Given the description of an element on the screen output the (x, y) to click on. 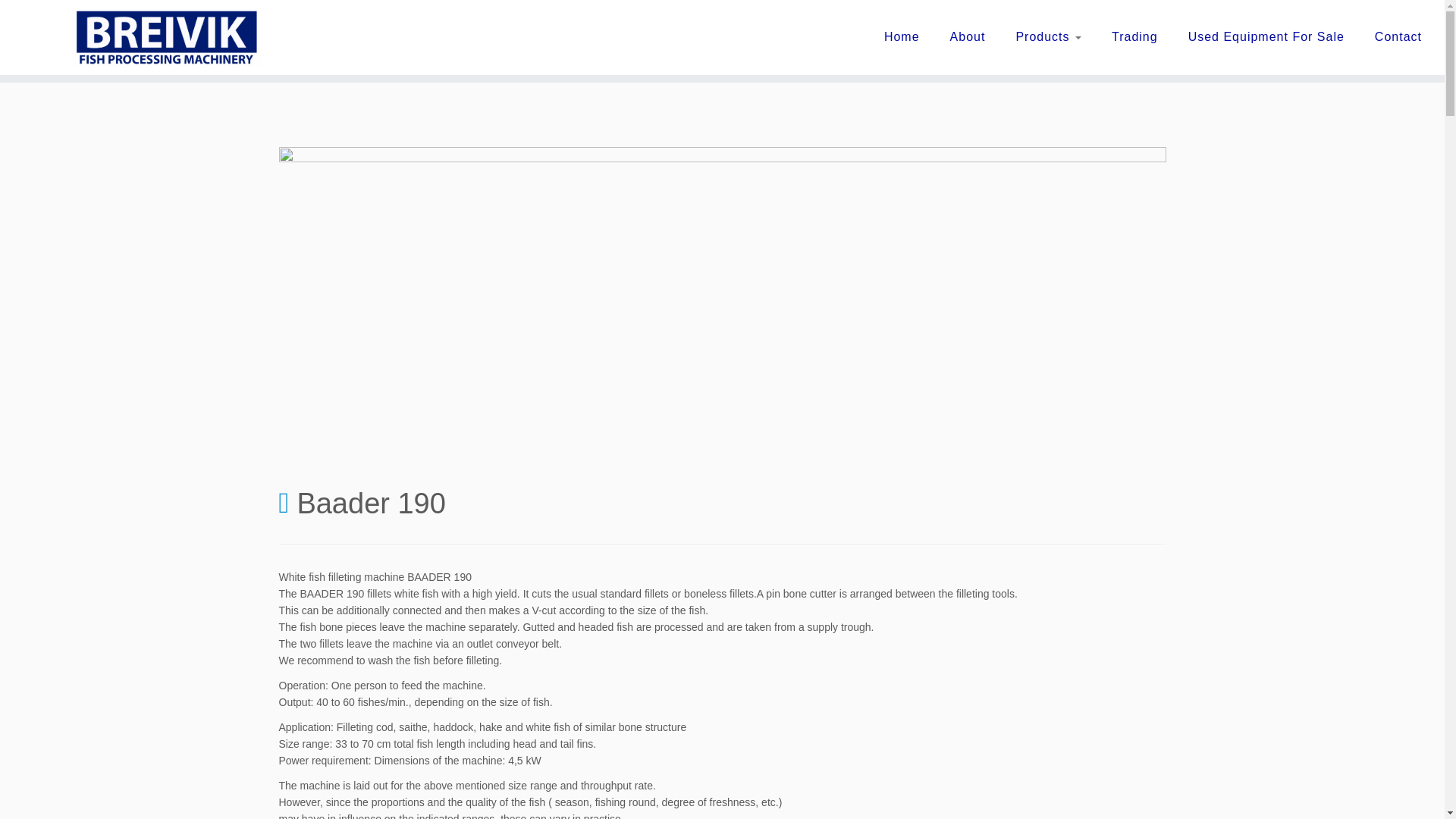
Products (1048, 37)
Contact (1390, 37)
Home (901, 37)
Trading (1134, 37)
Used Equipment For Sale (1266, 37)
About (967, 37)
